Given the description of an element on the screen output the (x, y) to click on. 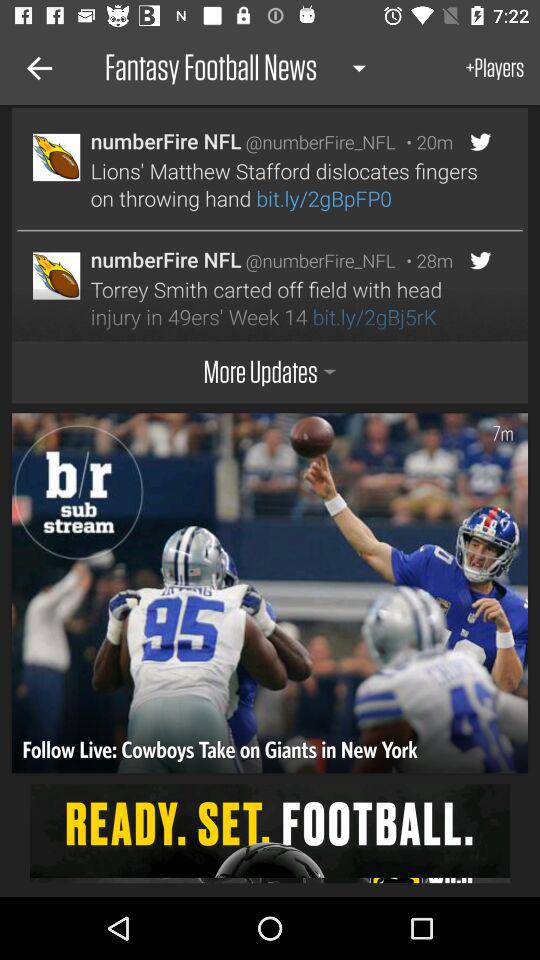
scroll until torrey smith carted (287, 303)
